Given the description of an element on the screen output the (x, y) to click on. 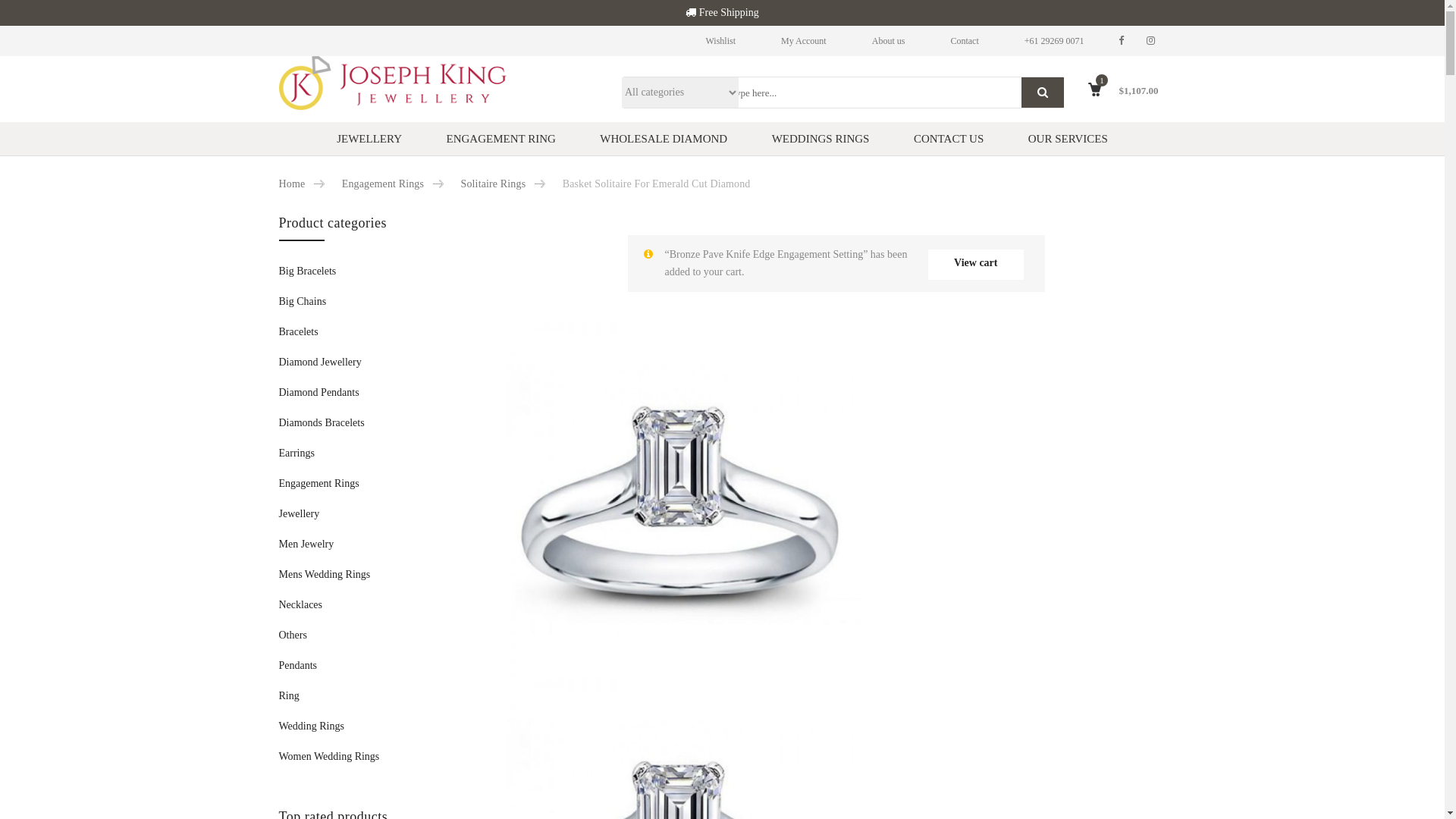
Diamond Pendants Element type: text (319, 392)
Big Bracelets Element type: text (307, 270)
ENGAGEMENT RING Element type: text (501, 138)
josephkingjewellery Element type: hover (392, 82)
Skip to content Element type: text (277, 211)
OUR SERVICES Element type: text (1067, 138)
My Account Element type: text (803, 40)
CONTACT US Element type: text (948, 138)
Necklaces Element type: text (301, 604)
Solitaire Rings Element type: text (493, 183)
Diamonds Bracelets Element type: text (321, 422)
Wedding Rings Element type: text (311, 725)
Wishlist Element type: text (721, 40)
Others Element type: text (293, 634)
Contact Element type: text (964, 40)
1 Element type: text (1091, 102)
JK-EG-SOL0008-800x800.jpg Element type: hover (683, 499)
Jewellery Element type: text (299, 513)
Bracelets Element type: text (298, 331)
Pendants Element type: text (298, 665)
View cart Element type: text (975, 264)
WEDDINGS RINGS Element type: text (820, 138)
Big Chains Element type: text (302, 301)
Diamond Jewellery Element type: text (320, 361)
+61 29269 0071 Element type: text (1054, 40)
About us Element type: text (888, 40)
Engagement Rings Element type: text (382, 183)
Earrings Element type: text (296, 452)
JEWELLERY Element type: text (369, 138)
Women Wedding Rings Element type: text (329, 756)
Home Element type: text (292, 183)
Men Jewelry Element type: text (306, 543)
Mens Wedding Rings Element type: text (324, 574)
Engagement Rings Element type: text (319, 483)
Ring Element type: text (289, 695)
WHOLESALE DIAMOND Element type: text (663, 138)
